Given the description of an element on the screen output the (x, y) to click on. 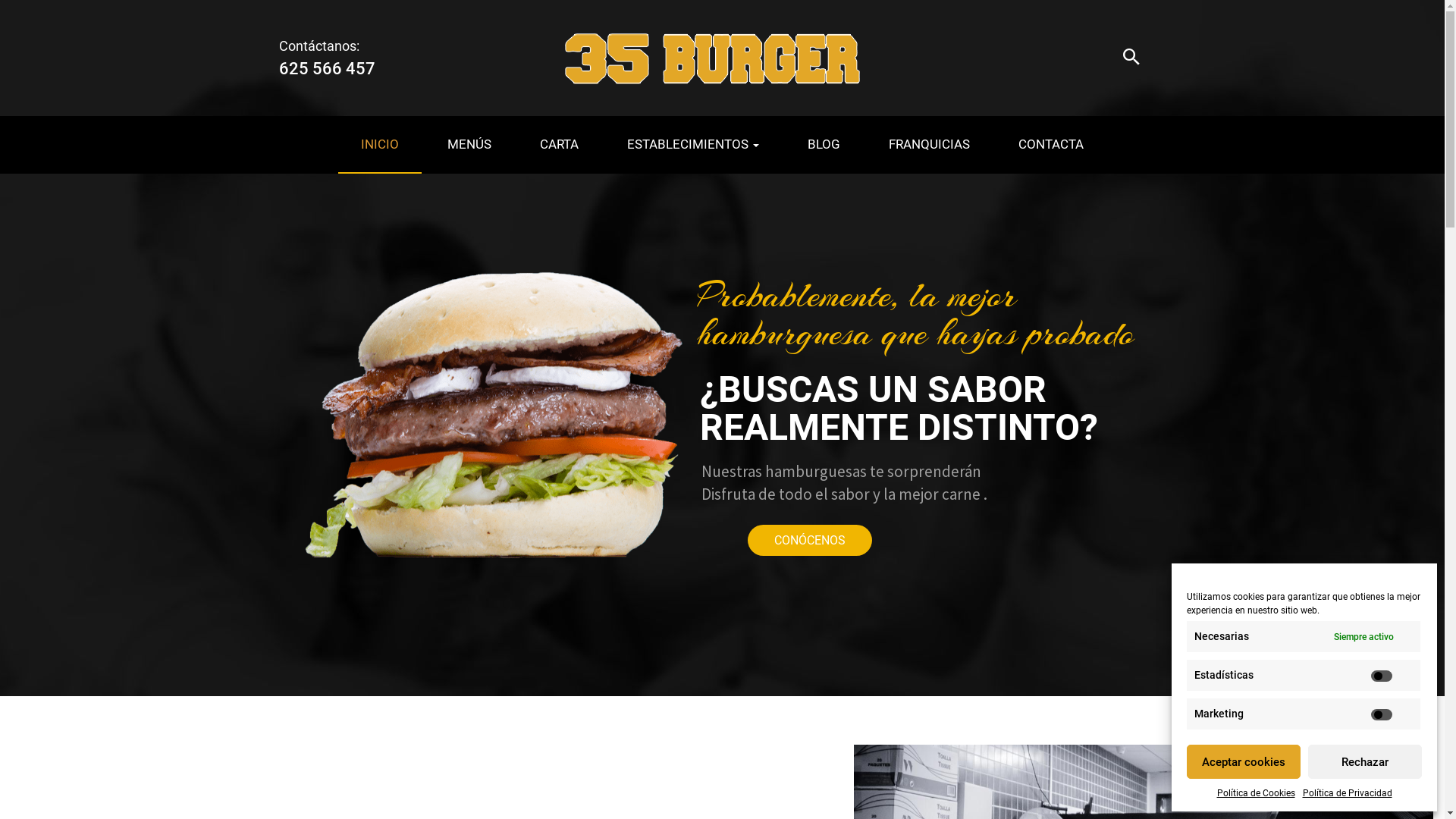
BLOG Element type: text (823, 144)
Aceptar cookies Element type: text (1243, 761)
CARTA Element type: text (559, 144)
FRANQUICIAS Element type: text (929, 144)
CONTACTA Element type: text (1050, 144)
Rechazar Element type: text (1364, 761)
INICIO Element type: text (379, 144)
ESTABLECIMIENTOS Element type: text (692, 144)
